Given the description of an element on the screen output the (x, y) to click on. 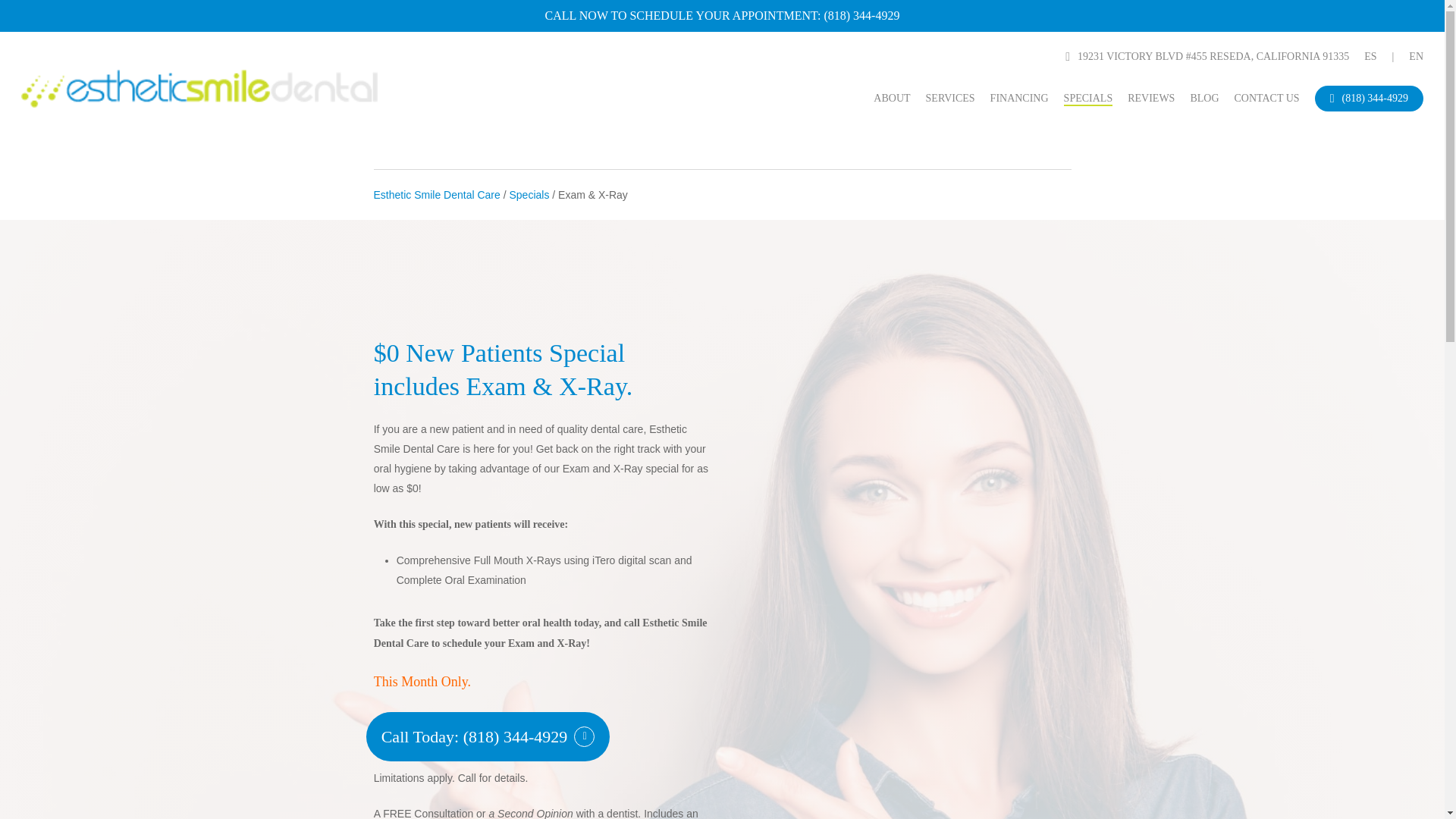
EN (1416, 55)
FINANCING (1019, 98)
ABOUT (891, 98)
SERVICES (950, 98)
